Given the description of an element on the screen output the (x, y) to click on. 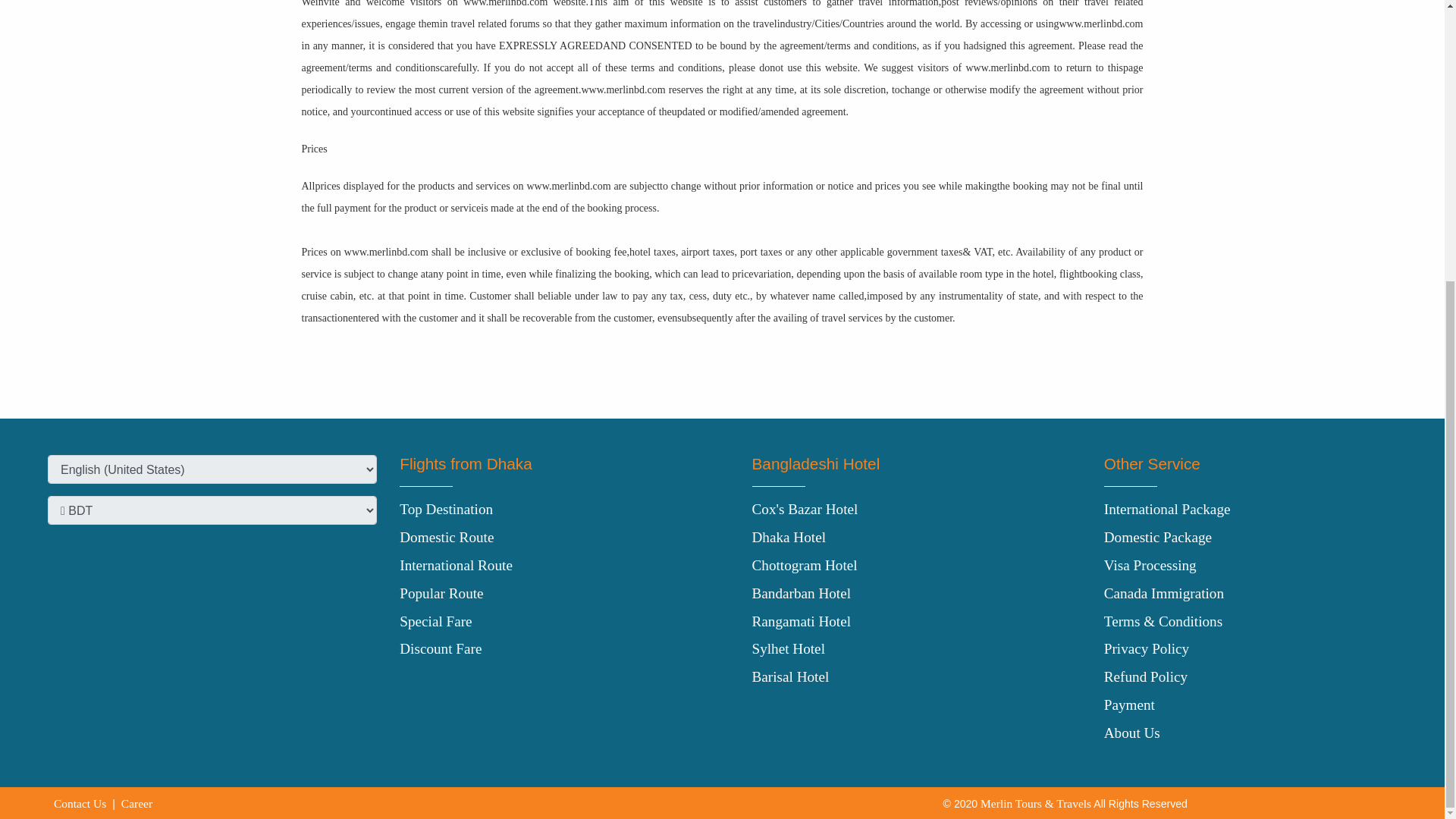
Contact Us (80, 802)
Cox's Bazar Hotel (805, 508)
Career (136, 802)
International Route (455, 565)
Sylhet Hotel (788, 648)
Barisal Hotel (790, 676)
Special Fare (434, 621)
Popular Route (440, 593)
Payment (1128, 704)
Visa Processing (1149, 565)
